Given the description of an element on the screen output the (x, y) to click on. 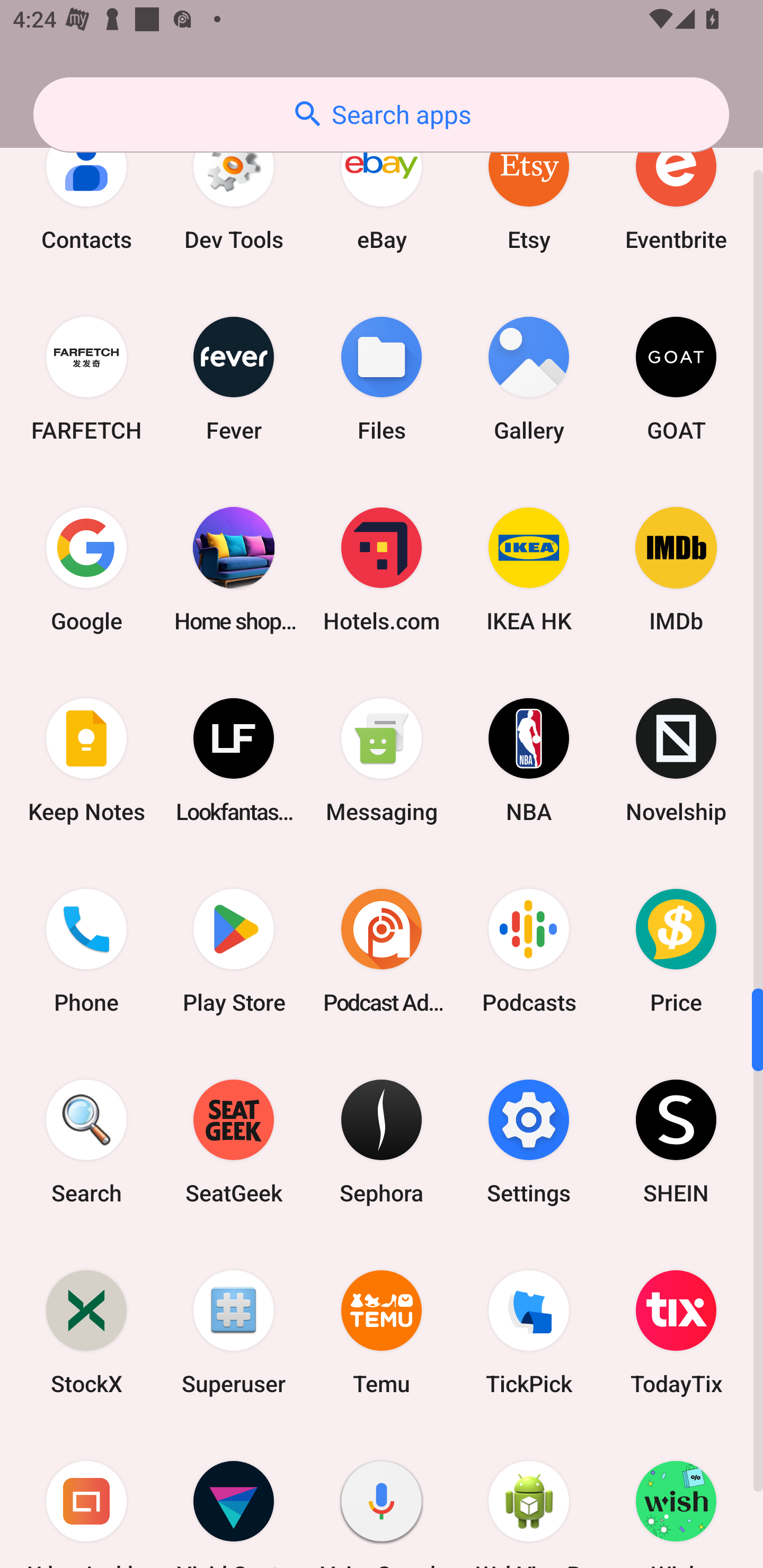
  Search apps (381, 114)
Contacts (86, 187)
Dev Tools (233, 187)
eBay (381, 187)
Etsy (528, 187)
Eventbrite (676, 187)
FARFETCH (86, 378)
Fever (233, 378)
Files (381, 378)
Gallery (528, 378)
GOAT (676, 378)
Google (86, 568)
Home shopping (233, 568)
Hotels.com (381, 568)
IKEA HK (528, 568)
IMDb (676, 568)
Keep Notes (86, 760)
Lookfantastic (233, 760)
Messaging (381, 760)
NBA (528, 760)
Novelship (676, 760)
Phone (86, 950)
Play Store (233, 950)
Podcast Addict (381, 950)
Podcasts (528, 950)
Price (676, 950)
Search (86, 1141)
SeatGeek (233, 1141)
Sephora (381, 1141)
Settings (528, 1141)
SHEIN (676, 1141)
StockX (86, 1331)
Superuser (233, 1331)
Temu (381, 1331)
TickPick (528, 1331)
TodayTix (676, 1331)
Urban Ladder (86, 1497)
Vivid Seats (233, 1497)
Voice Search (381, 1497)
WebView Browser Tester (528, 1497)
Wish (676, 1497)
